Given the description of an element on the screen output the (x, y) to click on. 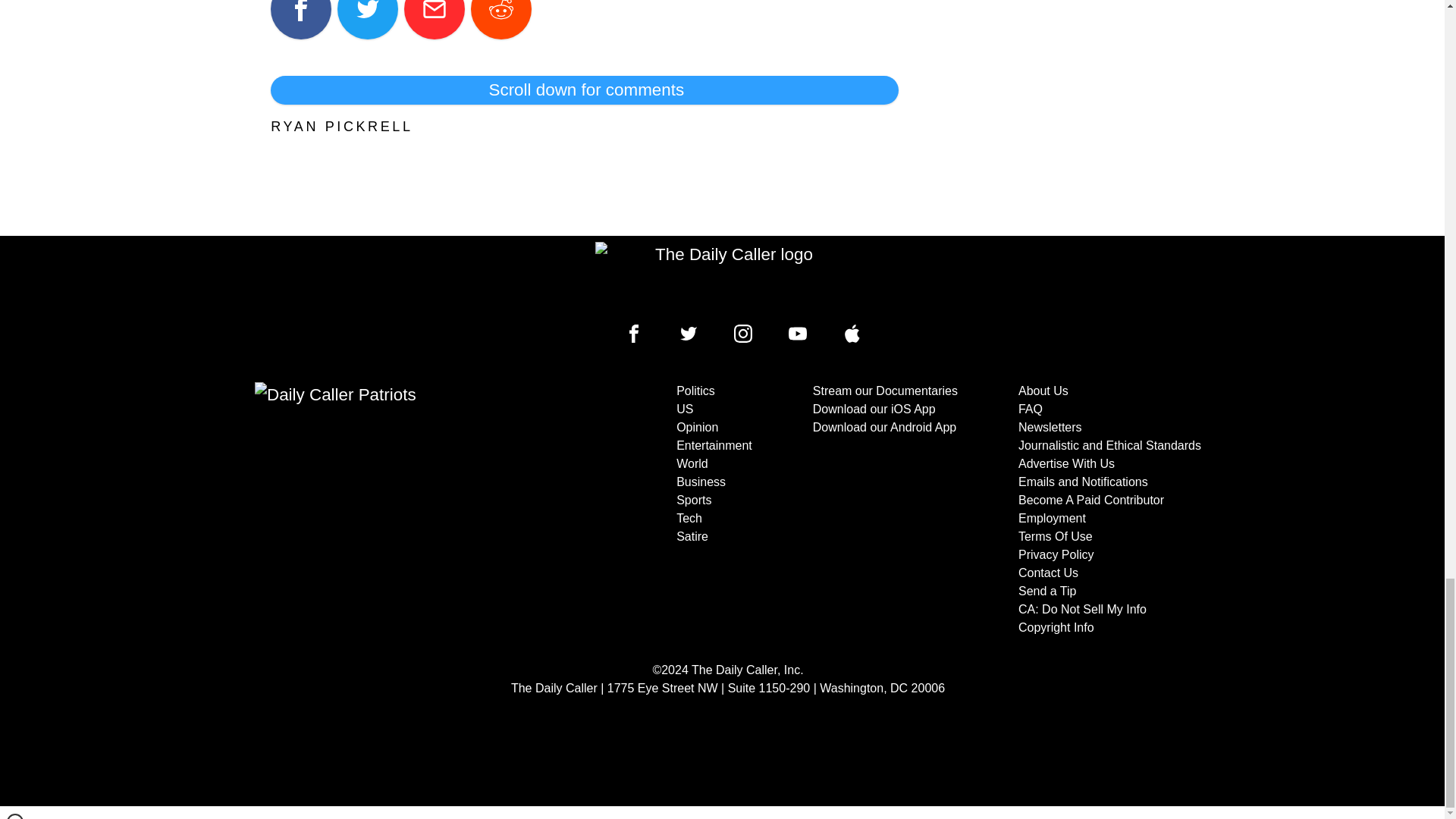
Daily Caller Twitter (688, 333)
To home page (727, 276)
Scroll down for comments (584, 90)
Daily Caller YouTube (797, 333)
Daily Caller YouTube (852, 333)
Daily Caller Instagram (742, 333)
Daily Caller Facebook (633, 333)
Subscribe to The Daily Caller (405, 509)
